Given the description of an element on the screen output the (x, y) to click on. 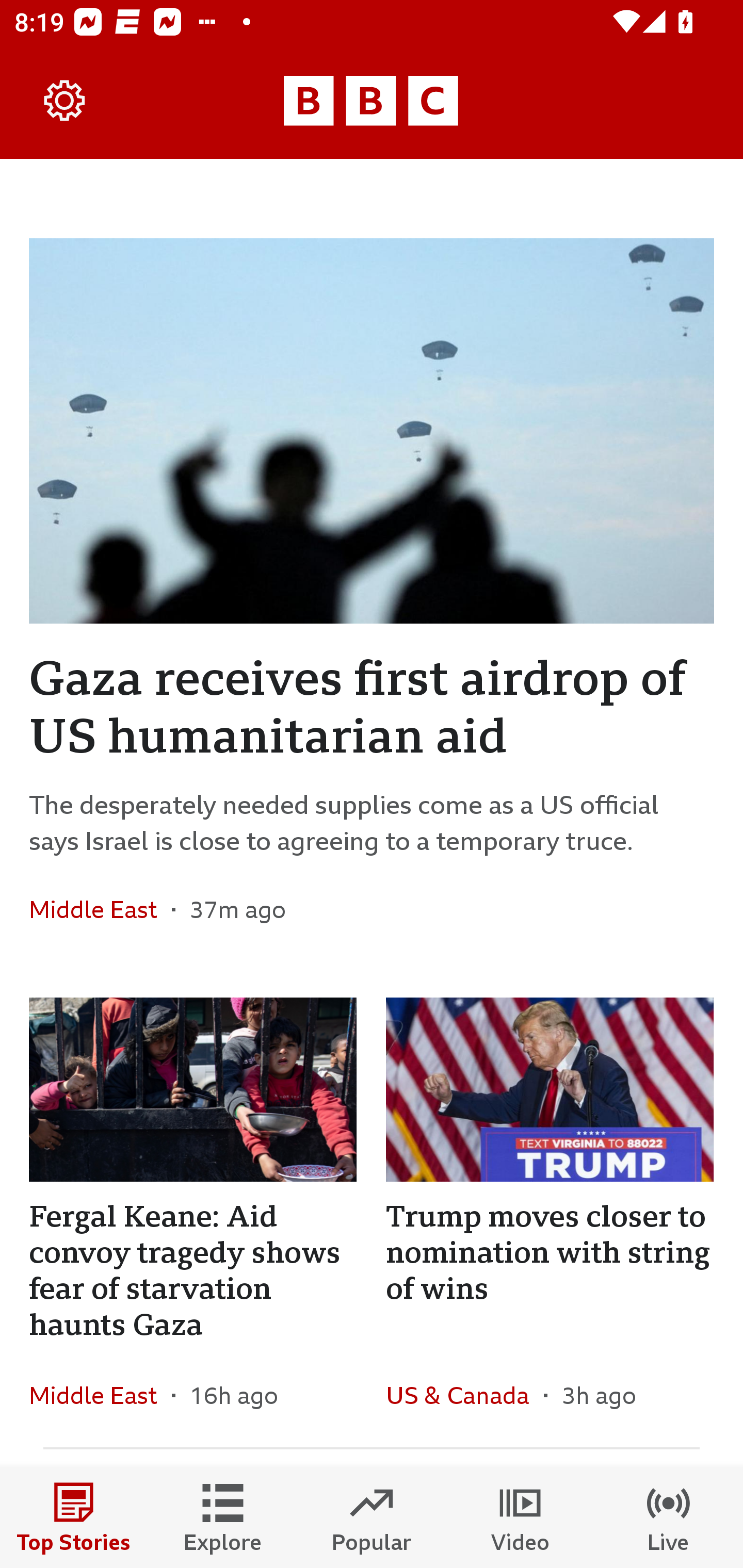
Settings (64, 100)
Middle East In the section Middle East (99, 909)
Middle East In the section Middle East (99, 1395)
US & Canada In the section US & Canada (464, 1395)
Explore (222, 1517)
Popular (371, 1517)
Video (519, 1517)
Live (668, 1517)
